Given the description of an element on the screen output the (x, y) to click on. 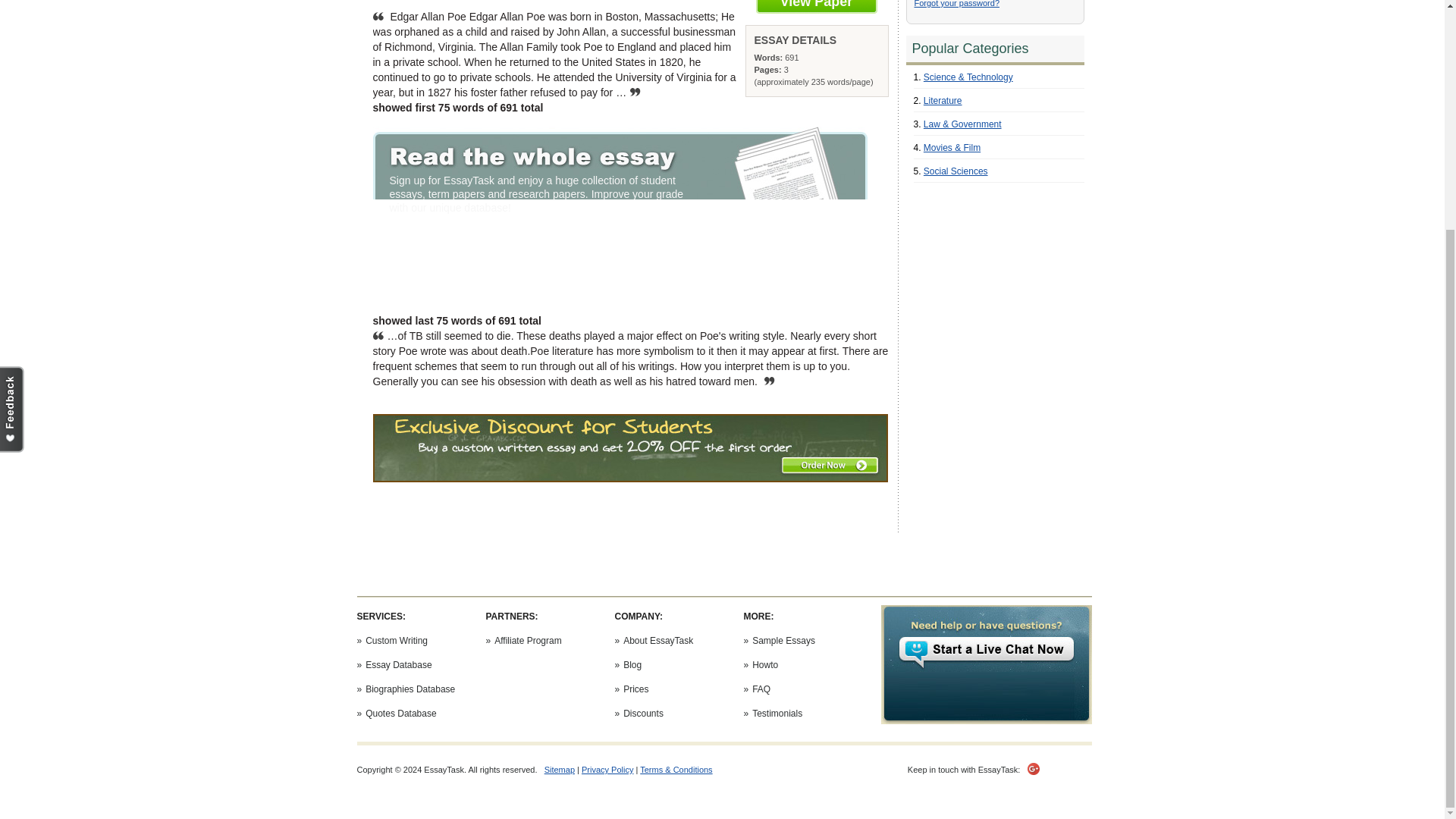
Forgot your password? (957, 3)
Quotes Database (400, 713)
Prices (635, 688)
Blog (632, 665)
Sample Essays (783, 640)
Social Sciences (955, 171)
Biographies Database (409, 688)
Essay Database (397, 665)
About EssayTask (658, 640)
Literature (942, 100)
